Given the description of an element on the screen output the (x, y) to click on. 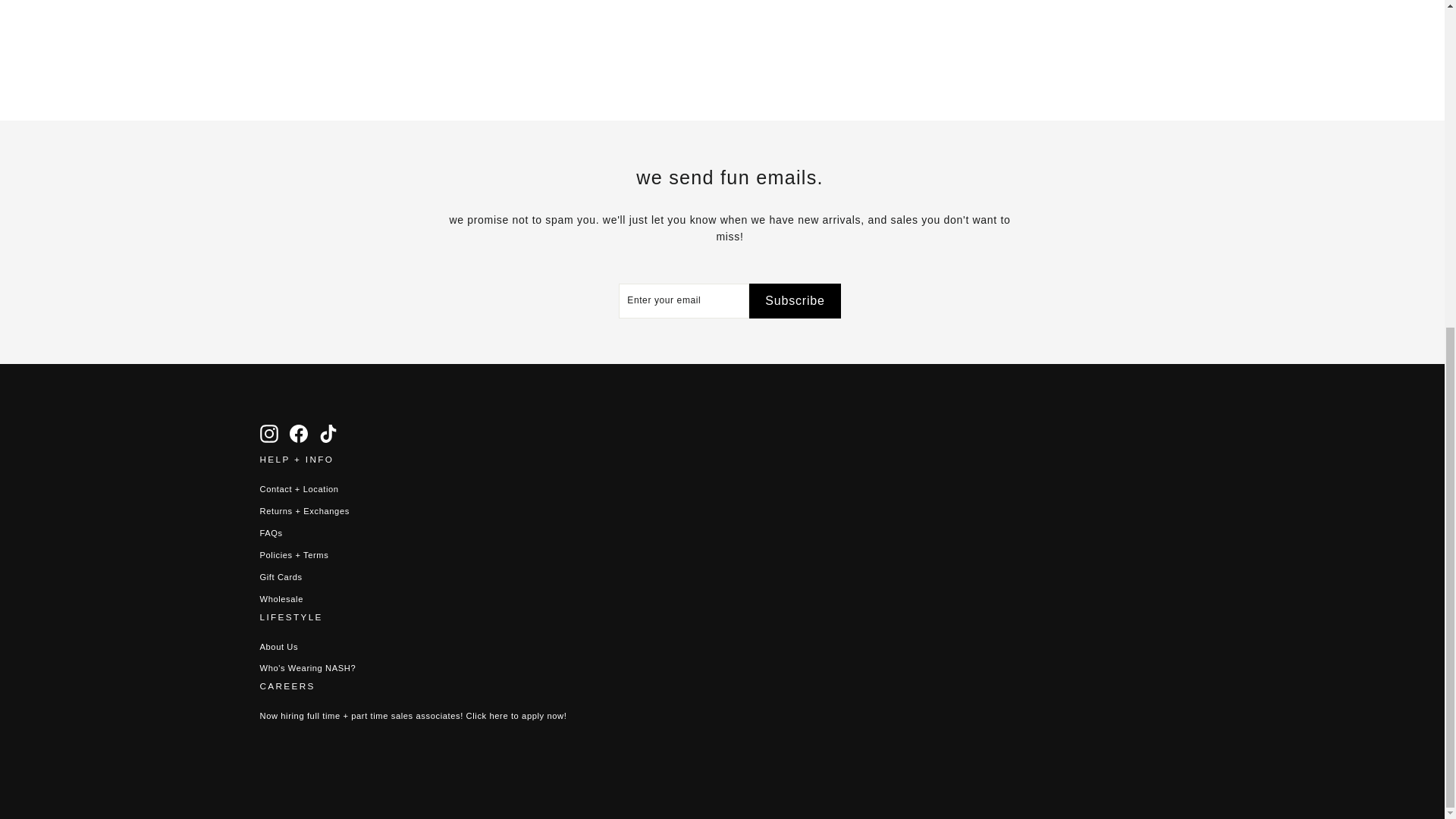
The Nash Collection on TikTok (327, 434)
instagram (268, 434)
The Nash Collection on Facebook (298, 434)
The Nash Collection on Instagram (268, 434)
